Given the description of an element on the screen output the (x, y) to click on. 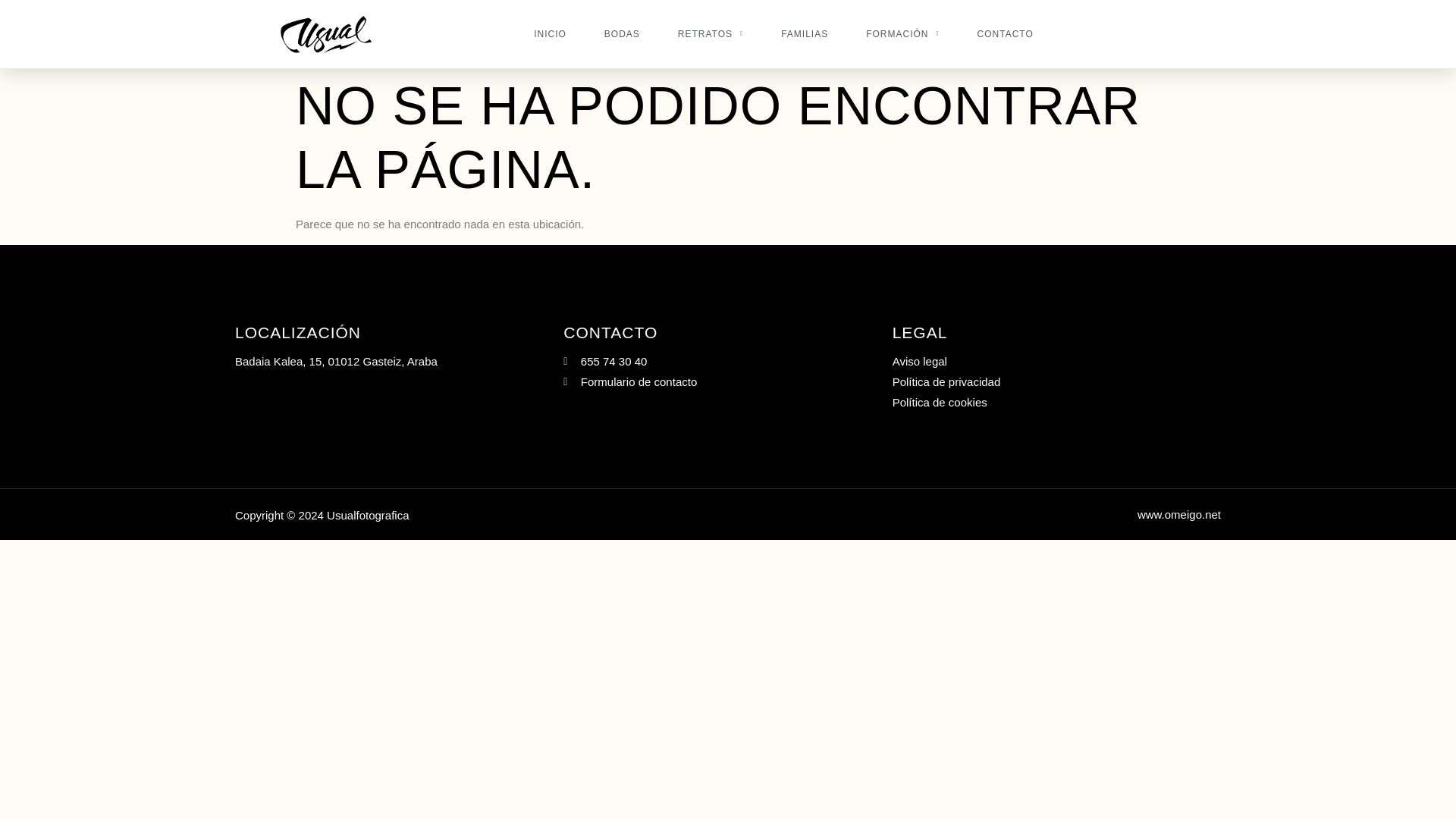
RETRATOS (710, 34)
Badaia Kalea, 15, 01012 Gasteiz, Araba (398, 361)
